Given the description of an element on the screen output the (x, y) to click on. 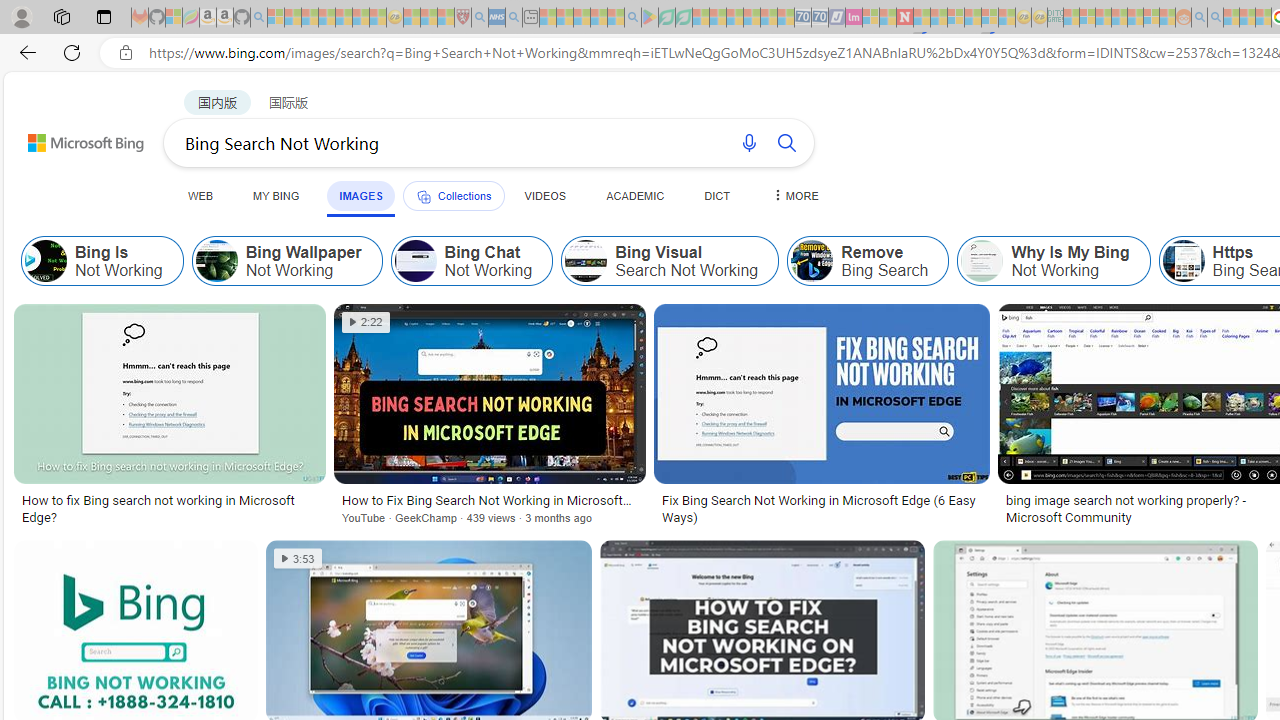
Search button (786, 142)
Remove Bing Search (868, 260)
Remove Bing Search (812, 260)
DICT (717, 195)
